Given the description of an element on the screen output the (x, y) to click on. 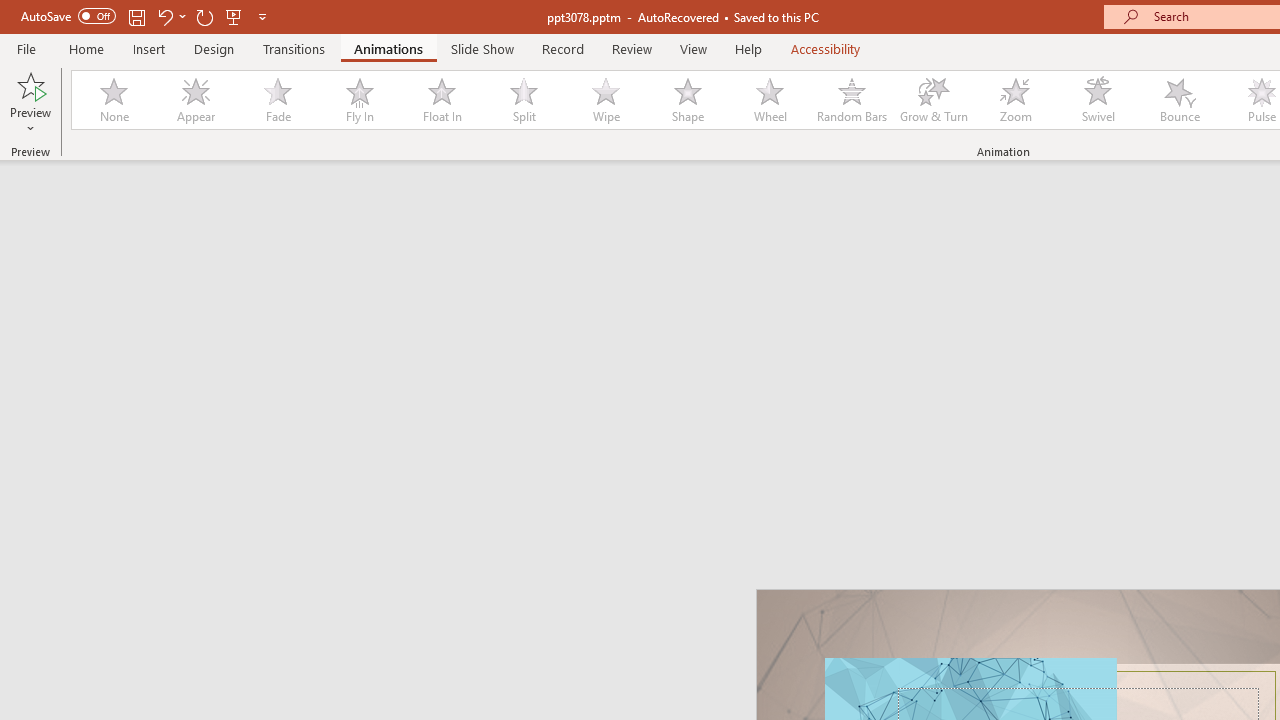
Appear (195, 100)
Float In (441, 100)
Fade (277, 100)
Fly In (359, 100)
Random Bars (852, 100)
